Given the description of an element on the screen output the (x, y) to click on. 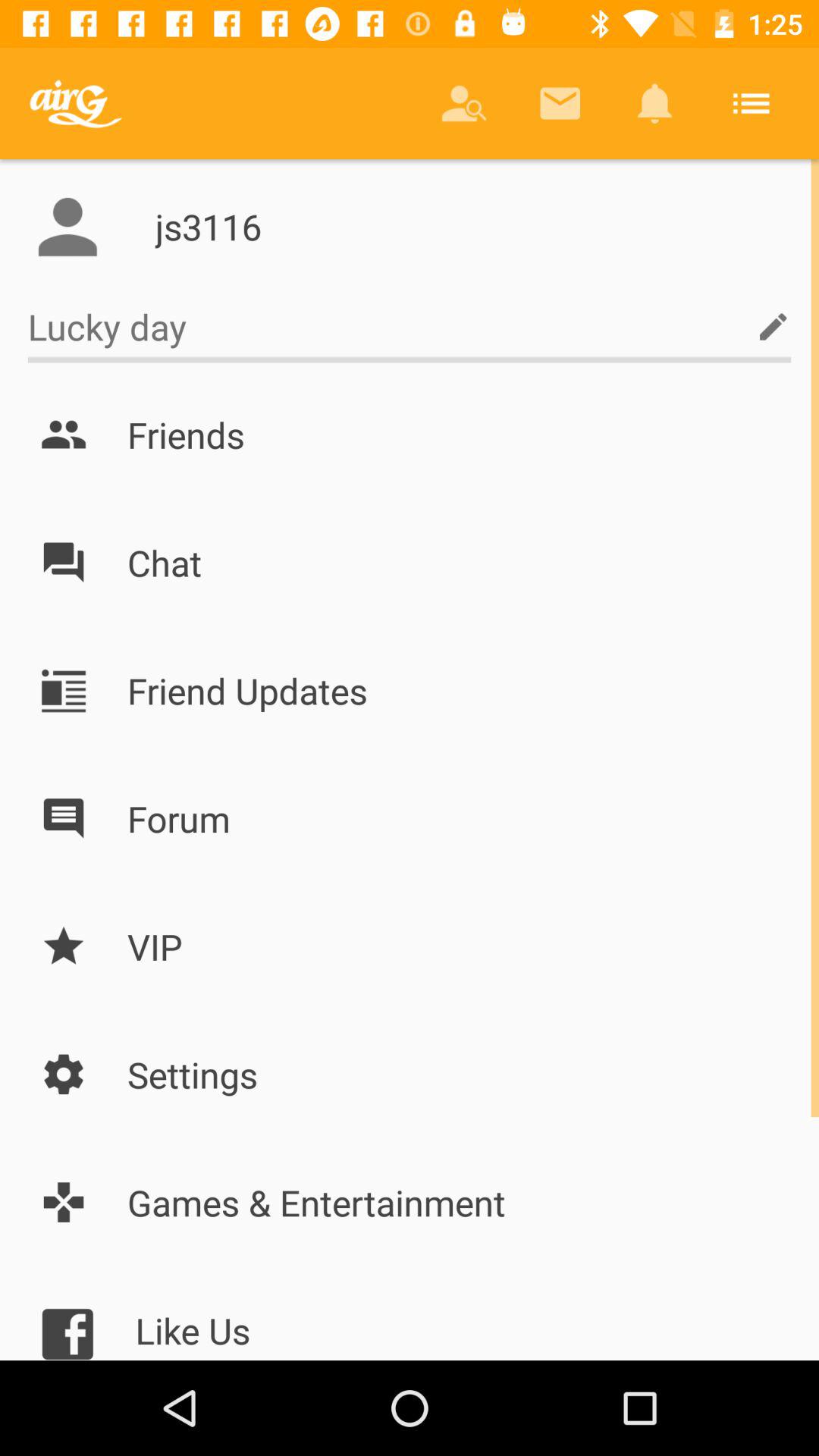
profile information (67, 226)
